Given the description of an element on the screen output the (x, y) to click on. 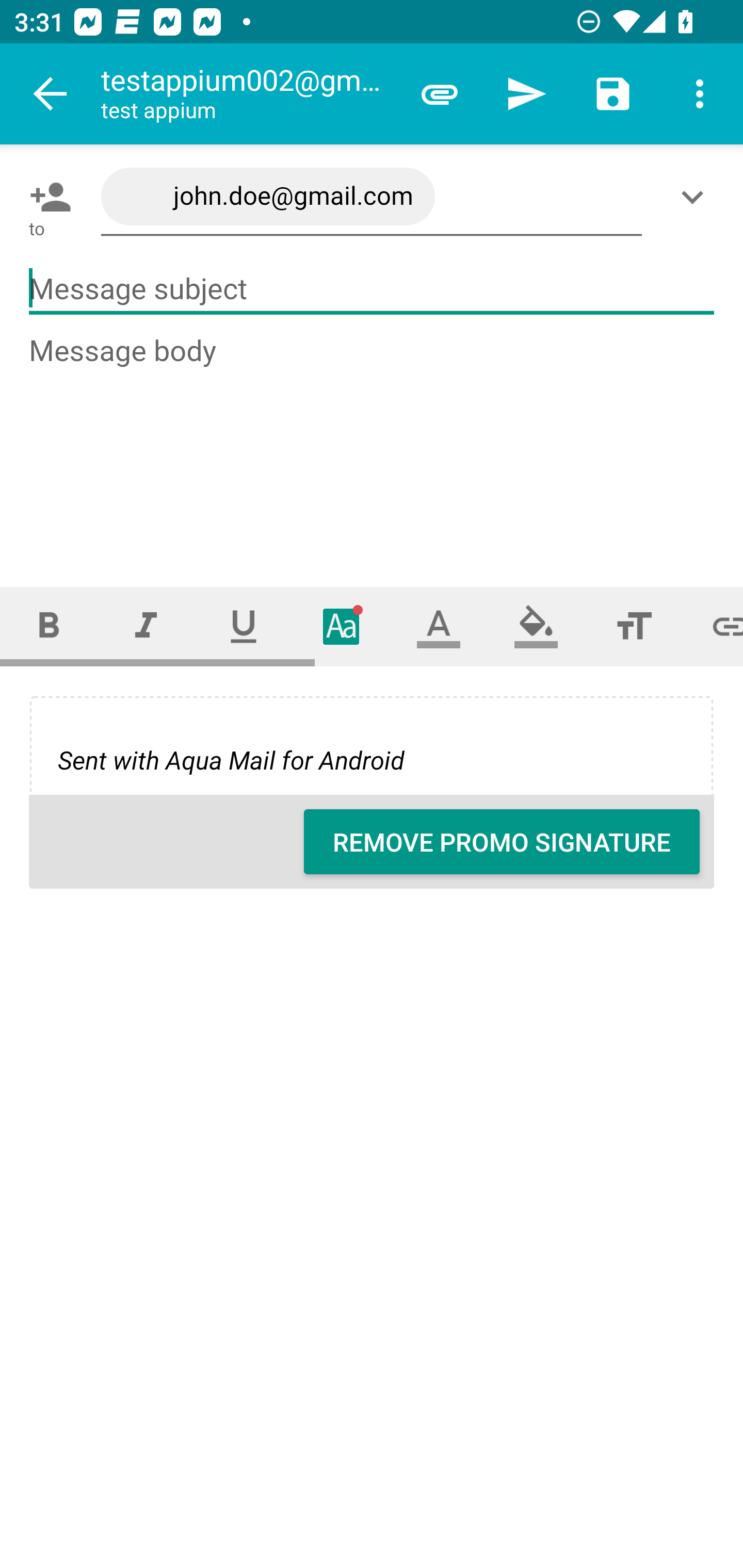
Navigate up (50, 93)
testappium002@gmail.com test appium (248, 93)
Attach (439, 93)
Send (525, 93)
Save (612, 93)
More options (699, 93)
john.doe@gmail.com,  (371, 197)
Pick contact: To (46, 196)
Show/Add CC/BCC (696, 196)
Message subject (371, 288)
Message body (372, 442)
Bold (48, 626)
Italic (145, 626)
Underline (243, 626)
Typeface (font) (341, 626)
Text color (438, 626)
Fill color (536, 626)
Font size (633, 626)
Set link (712, 626)
REMOVE PROMO SIGNATURE (501, 841)
